Given the description of an element on the screen output the (x, y) to click on. 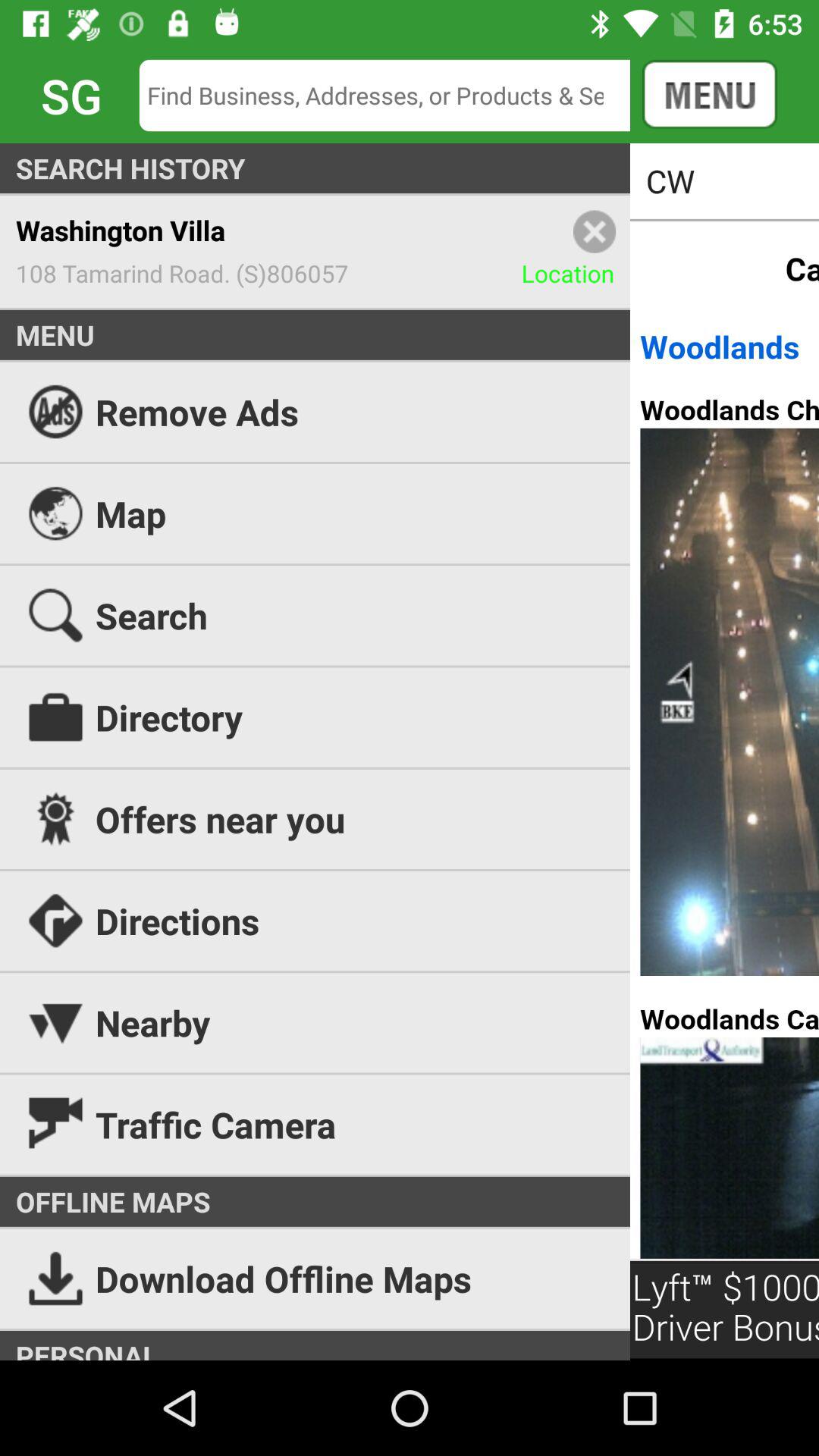
click the button on the top right corner of the web page (709, 95)
click on the menu option (733, 95)
